Given the description of an element on the screen output the (x, y) to click on. 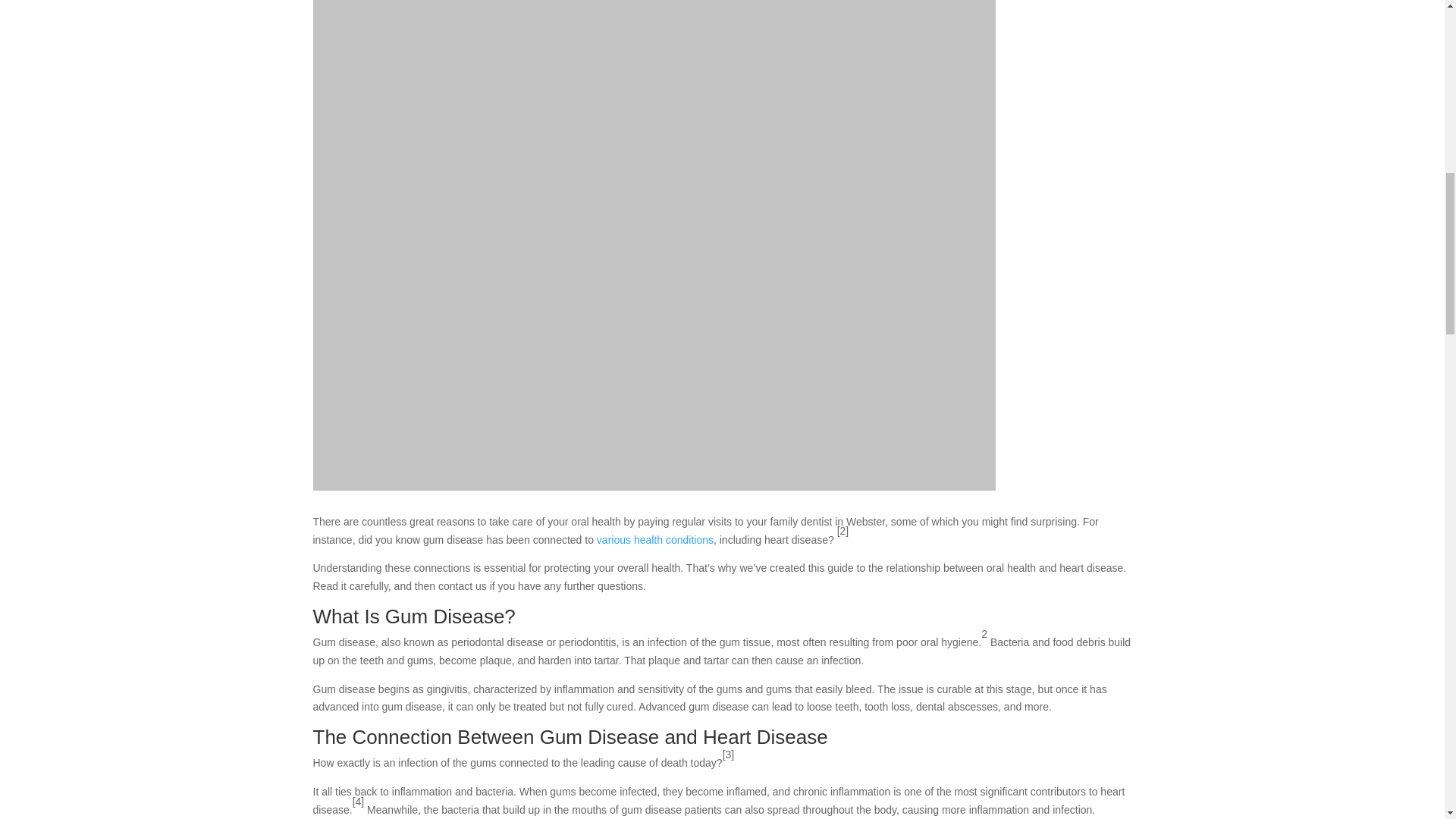
various health conditions (654, 539)
The Connection Between Gum Disease and Heart Disease (570, 736)
